Given the description of an element on the screen output the (x, y) to click on. 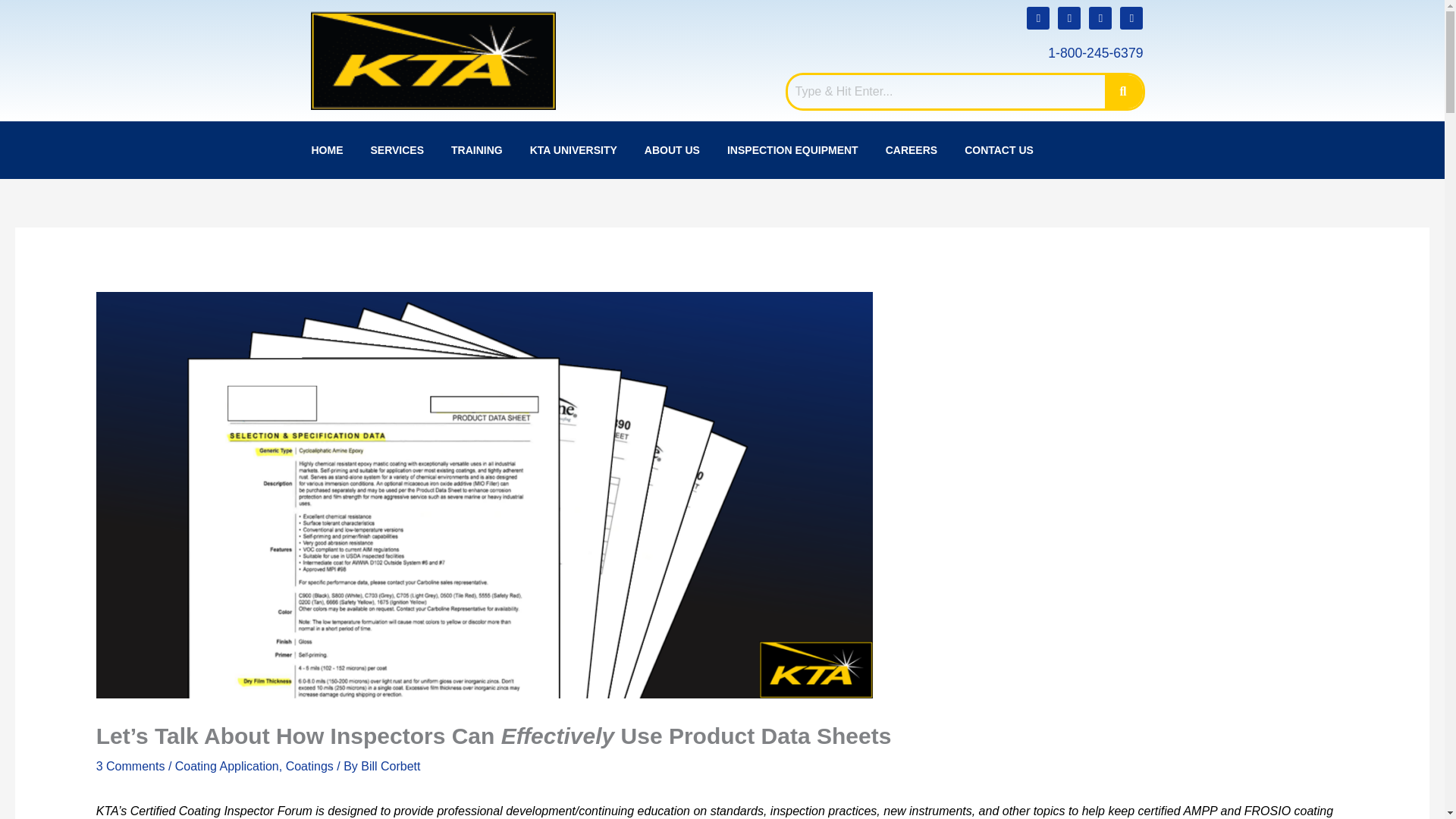
HOME (326, 149)
View all posts by Bill Corbett (390, 766)
Youtube (1069, 17)
SERVICES (397, 149)
KTA UNIVERSITY (573, 149)
Facebook-f (1100, 17)
TRAINING (477, 149)
Search (946, 91)
Linkedin (1037, 17)
Twitter (1130, 17)
ABOUT US (671, 149)
